Given the description of an element on the screen output the (x, y) to click on. 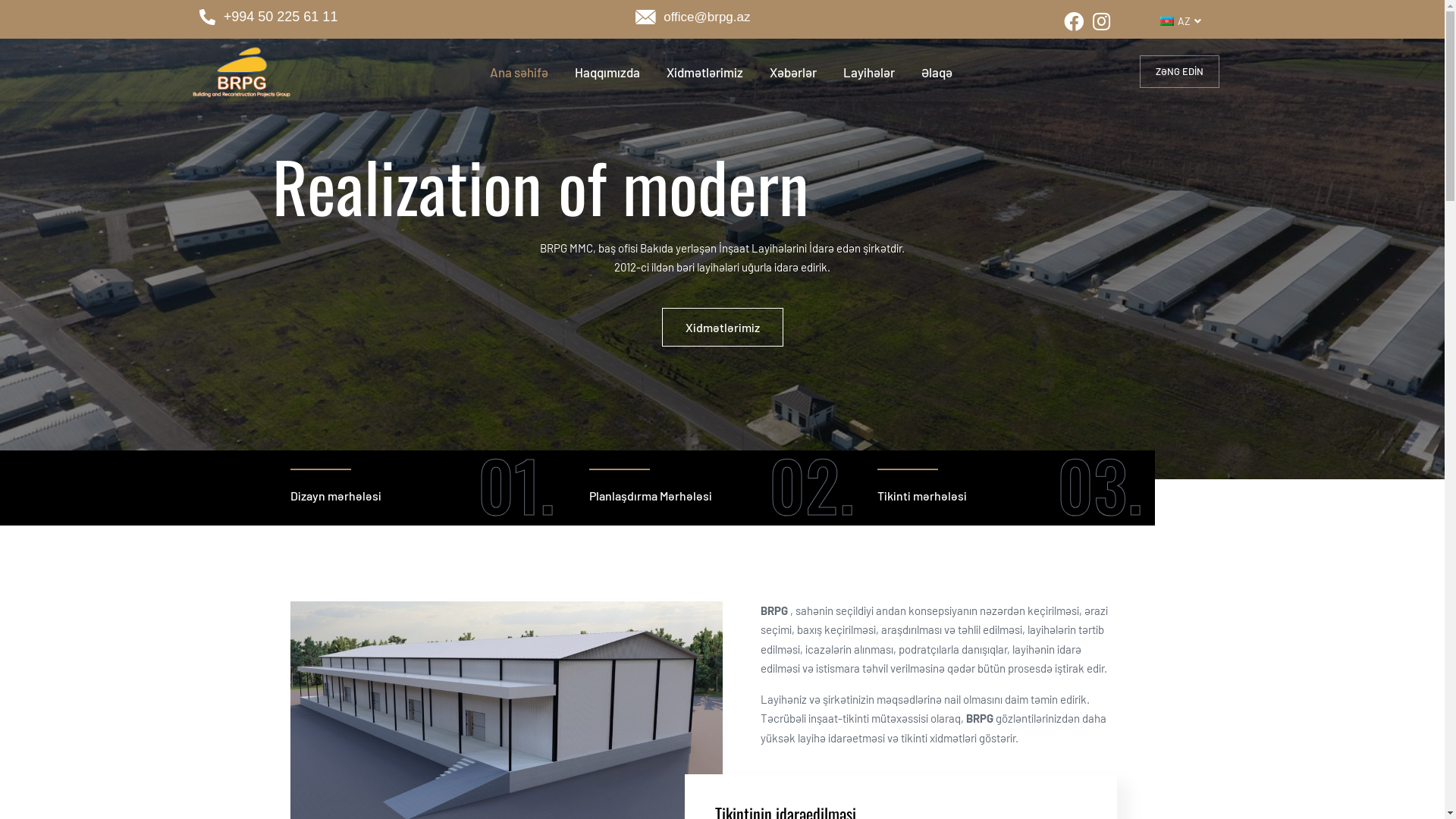
Azerbaijani Element type: hover (1166, 20)
+994 50 225 61 11 Element type: text (409, 17)
AZ Element type: text (1178, 21)
